Given the description of an element on the screen output the (x, y) to click on. 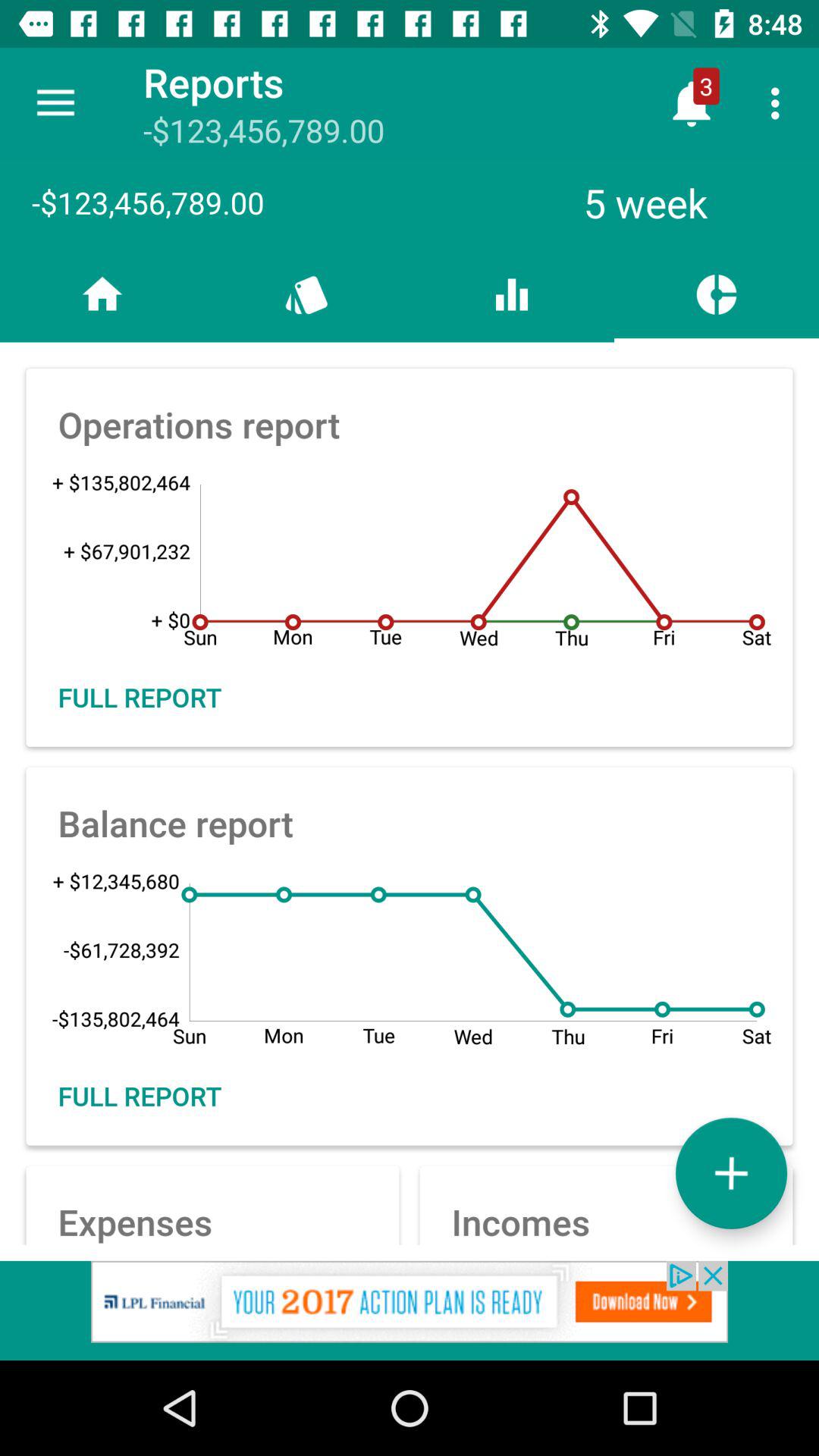
add options (731, 1173)
